Given the description of an element on the screen output the (x, y) to click on. 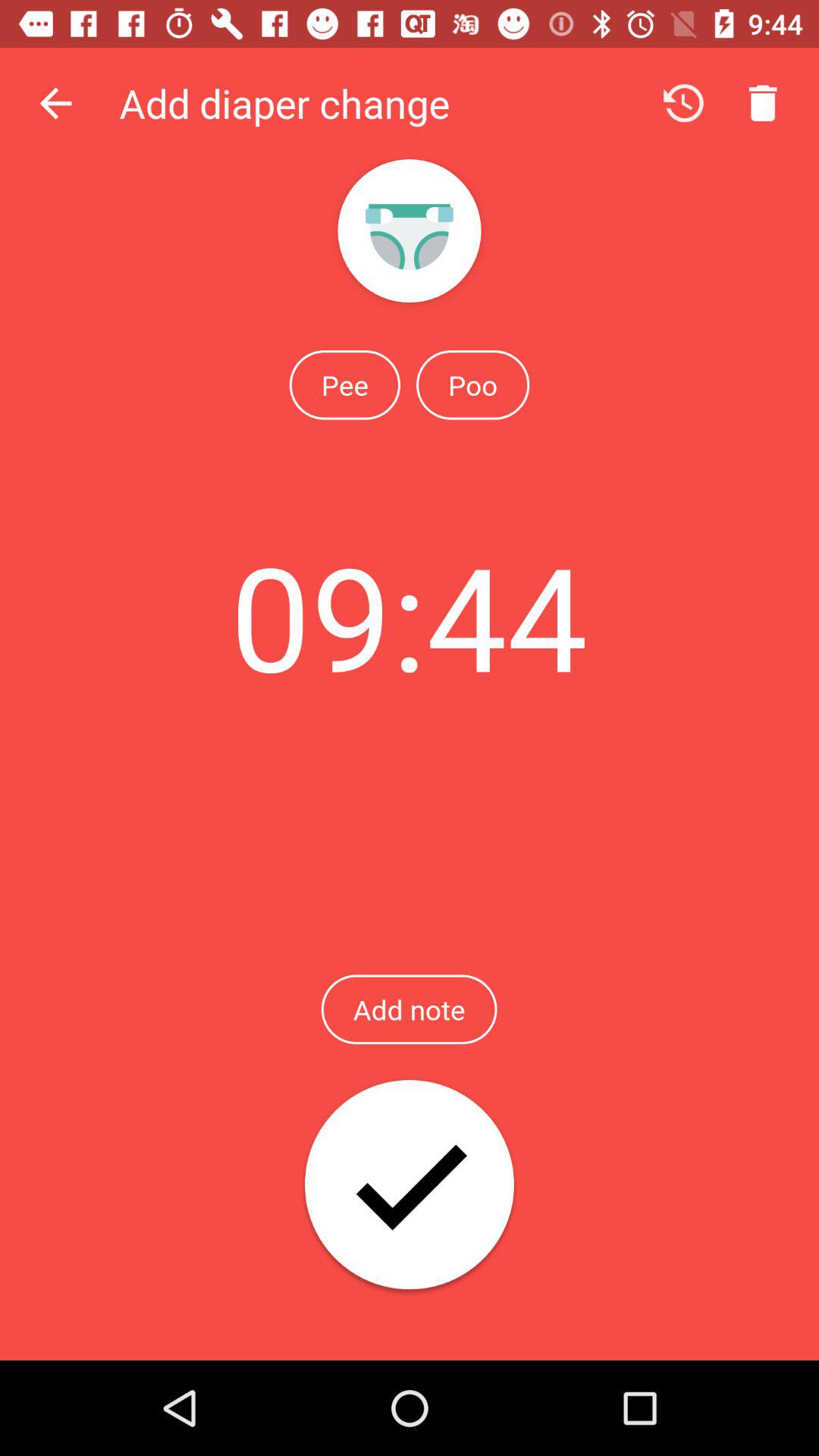
jump to add note item (409, 1009)
